Given the description of an element on the screen output the (x, y) to click on. 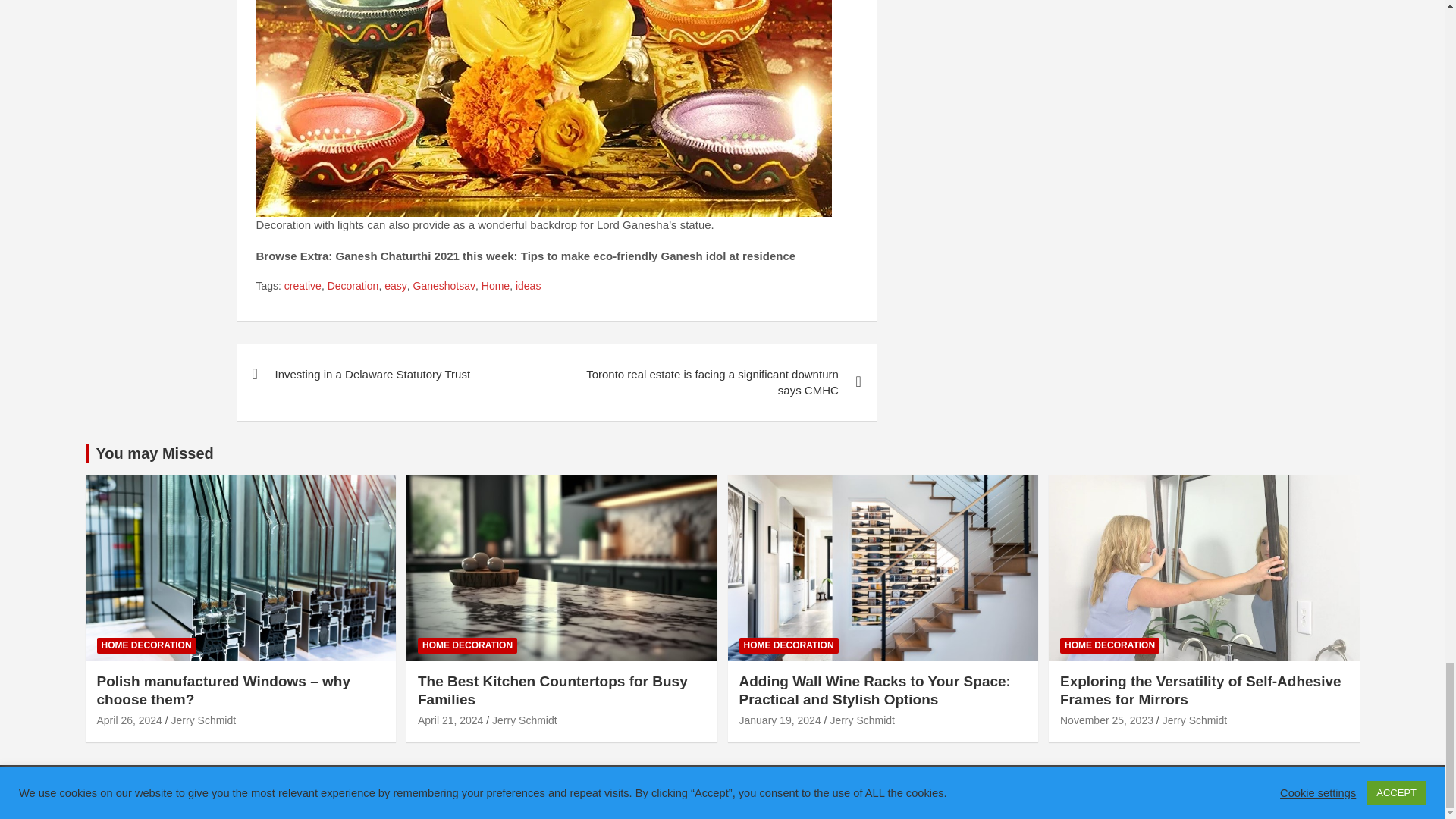
creative (302, 286)
Home Decor Ideas (224, 791)
Decoration (352, 286)
The Best Kitchen Countertops for Busy Families (450, 720)
ideas (527, 286)
Ganeshotsav (444, 286)
Home (495, 286)
easy (395, 286)
Theme Horse (464, 791)
Investing in a Delaware Statutory Trust  (395, 373)
WordPress (649, 791)
